Given the description of an element on the screen output the (x, y) to click on. 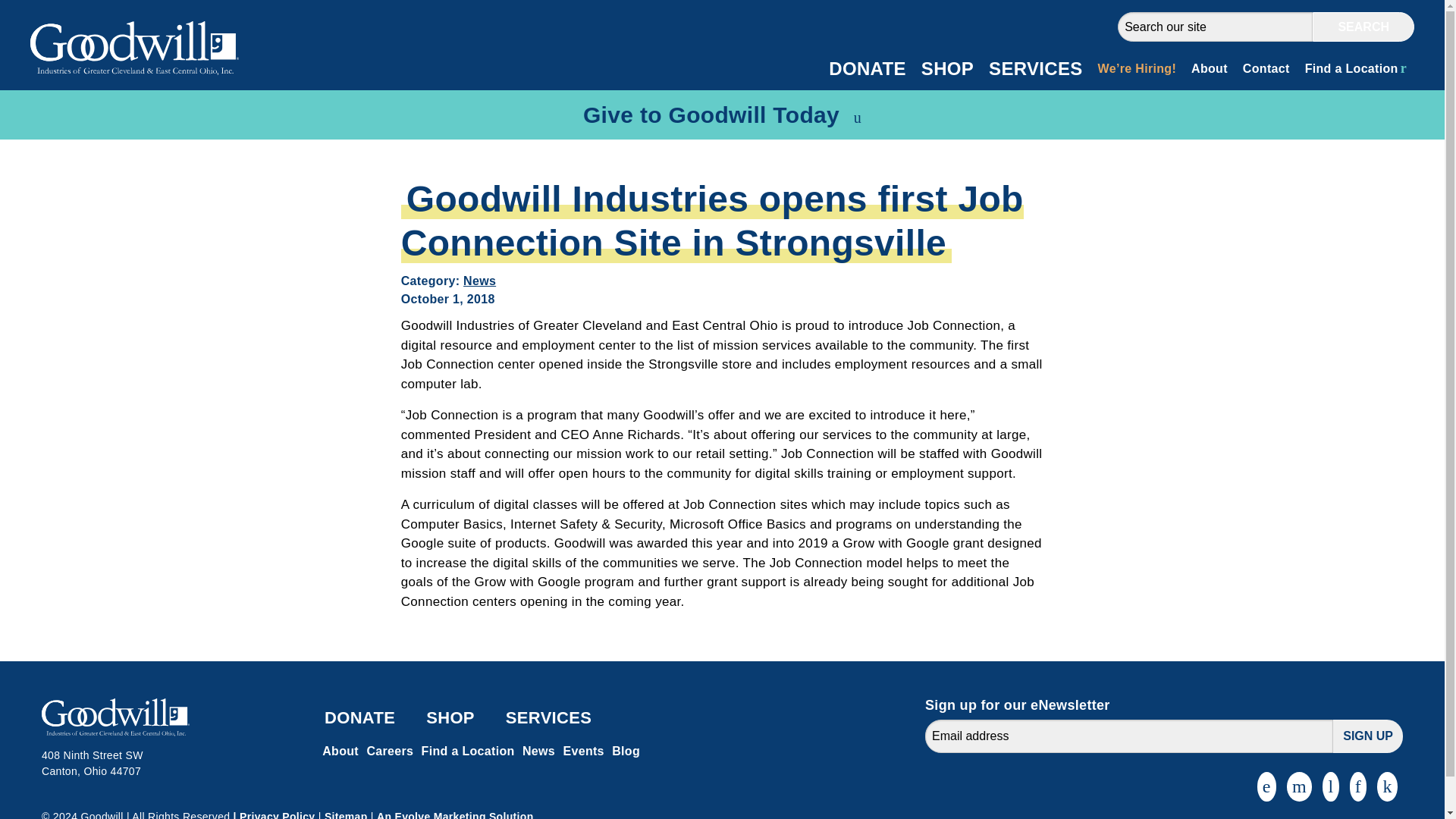
Search (1363, 26)
Search (1363, 26)
Find a Location (1355, 68)
SHOP (947, 69)
Contact (1265, 68)
About (1208, 68)
SIGN UP (1368, 735)
DONATE (866, 69)
SERVICES (1035, 69)
Goodwill Industries GCECO (118, 83)
